Given the description of an element on the screen output the (x, y) to click on. 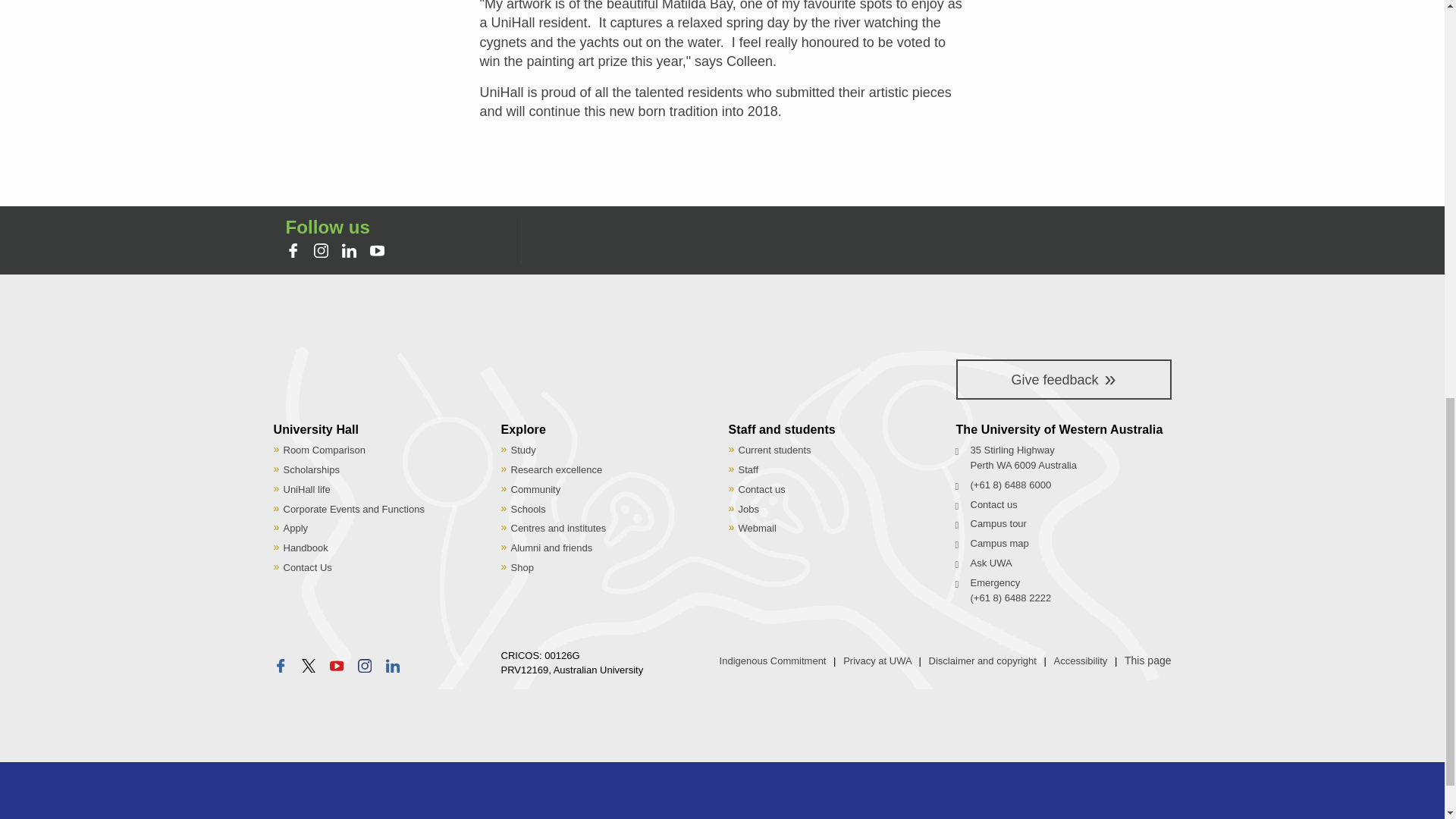
Group of Eight Australia Member (340, 802)
youtube (336, 666)
X (311, 667)
instagram (323, 252)
facebook (294, 252)
youtube (379, 252)
facebook (279, 666)
linkedin (351, 252)
instagram (364, 666)
youtube (376, 250)
linkedin (349, 250)
facebook (292, 250)
Give feedback (1062, 379)
instagram (321, 250)
Room Comparison (324, 449)
